Given the description of an element on the screen output the (x, y) to click on. 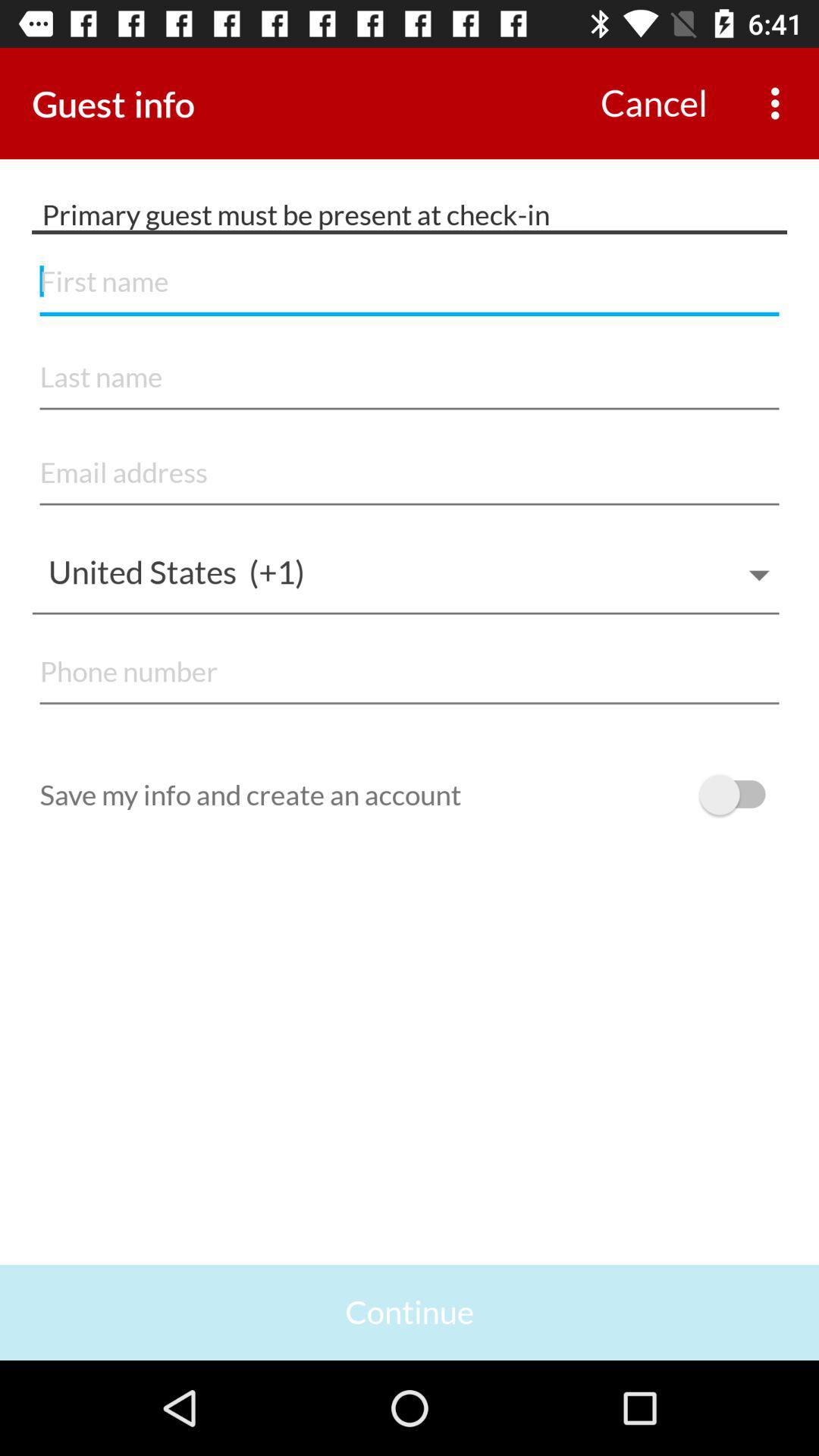
toggle save info and create account (739, 794)
